Given the description of an element on the screen output the (x, y) to click on. 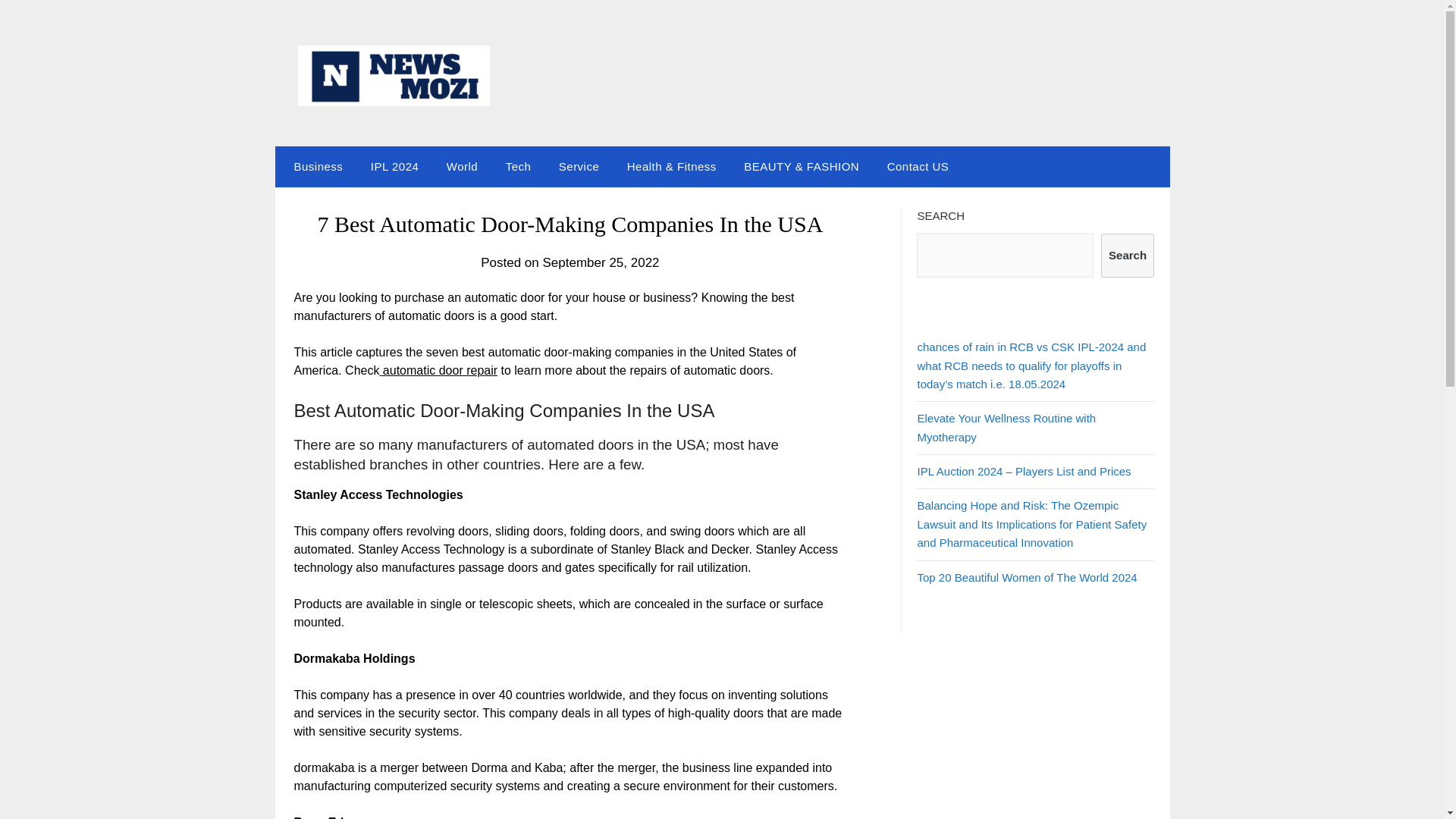
IPL 2024 (394, 166)
Service (579, 166)
automatic door repair (437, 369)
Top 20 Beautiful Women of The World 2024 (1027, 576)
World (461, 166)
Tech (518, 166)
Elevate Your Wellness Routine with Myotherapy (1006, 427)
Contact US (917, 166)
Search (1127, 255)
Business (315, 166)
